Given the description of an element on the screen output the (x, y) to click on. 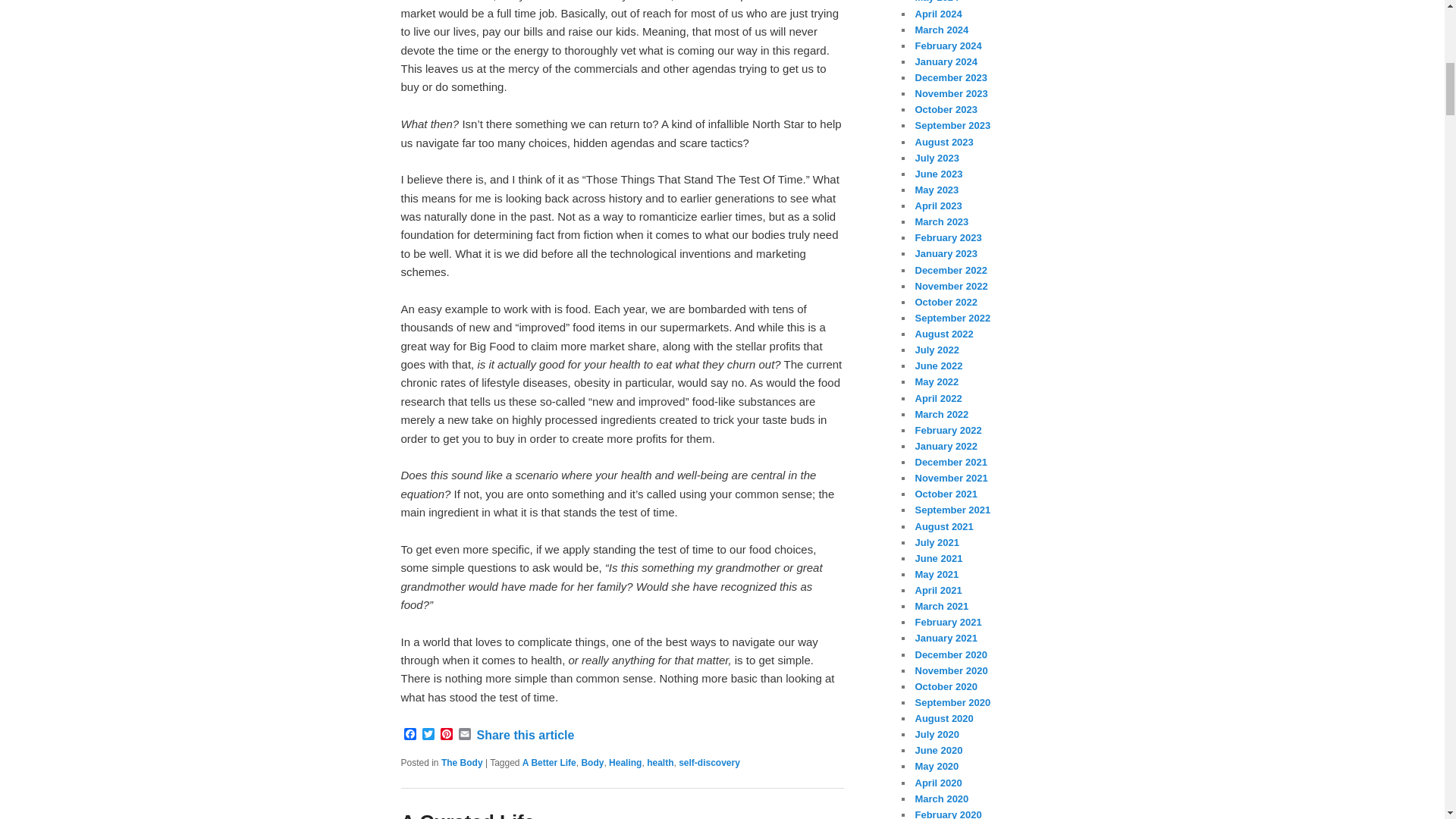
Body (592, 762)
Share this article (524, 735)
Healing (625, 762)
The Body (462, 762)
A Curated Life (467, 814)
Facebook (409, 735)
self-discovery (708, 762)
Email (463, 735)
Twitter (427, 735)
A Better Life (549, 762)
